Given the description of an element on the screen output the (x, y) to click on. 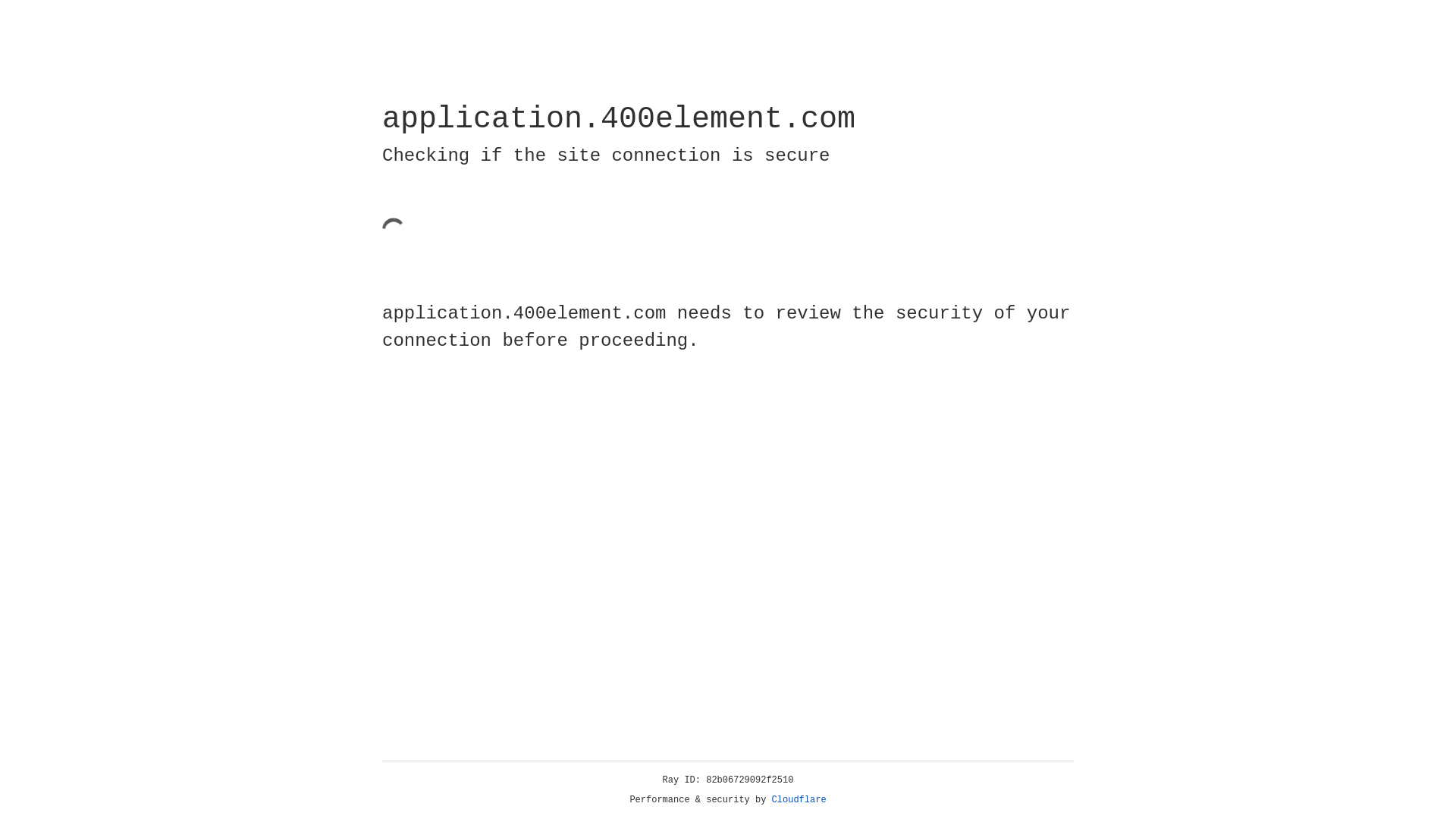
Cloudflare Element type: text (798, 799)
